Given the description of an element on the screen output the (x, y) to click on. 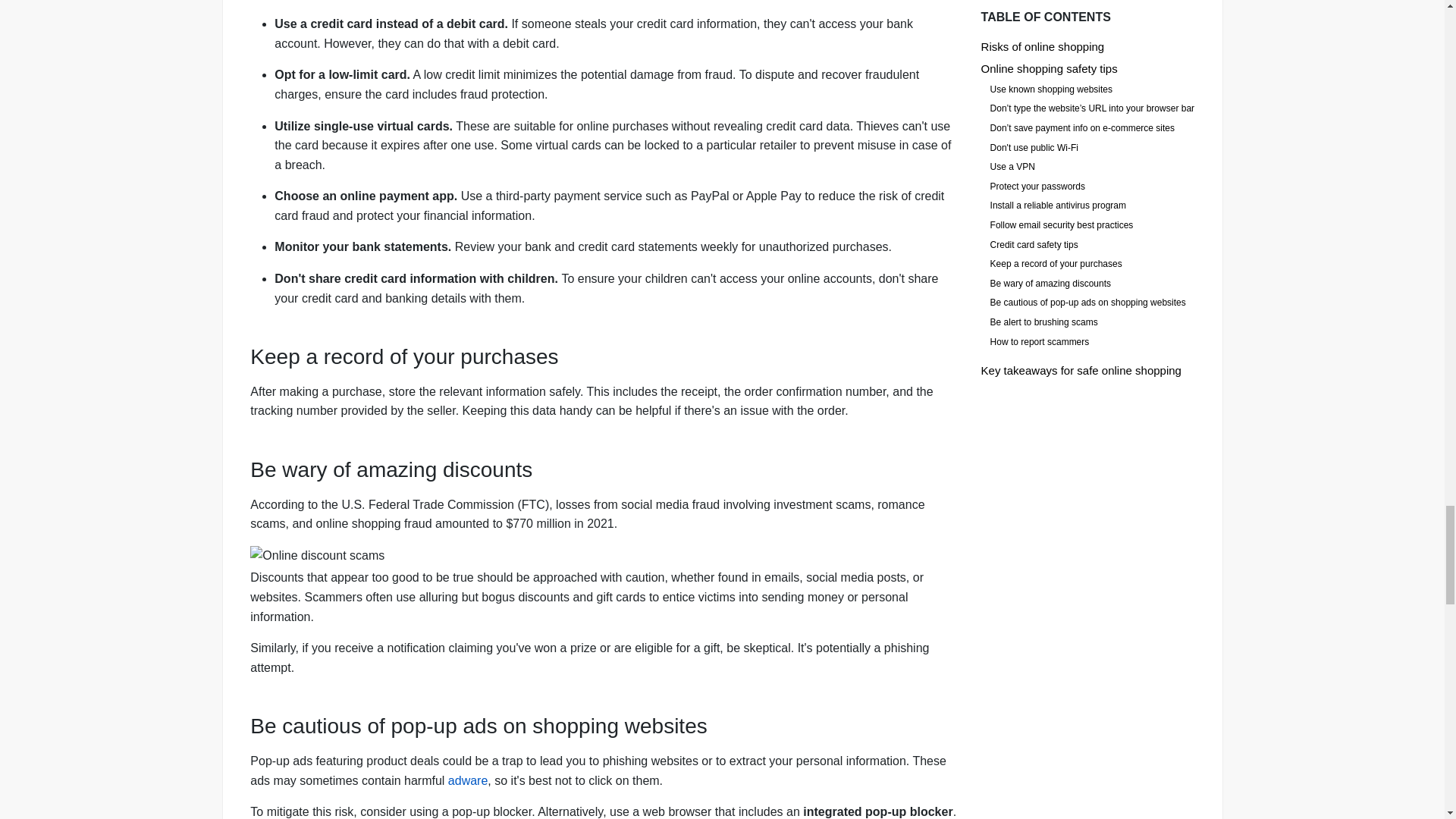
adware (467, 780)
Online discount scams (604, 555)
